Given the description of an element on the screen output the (x, y) to click on. 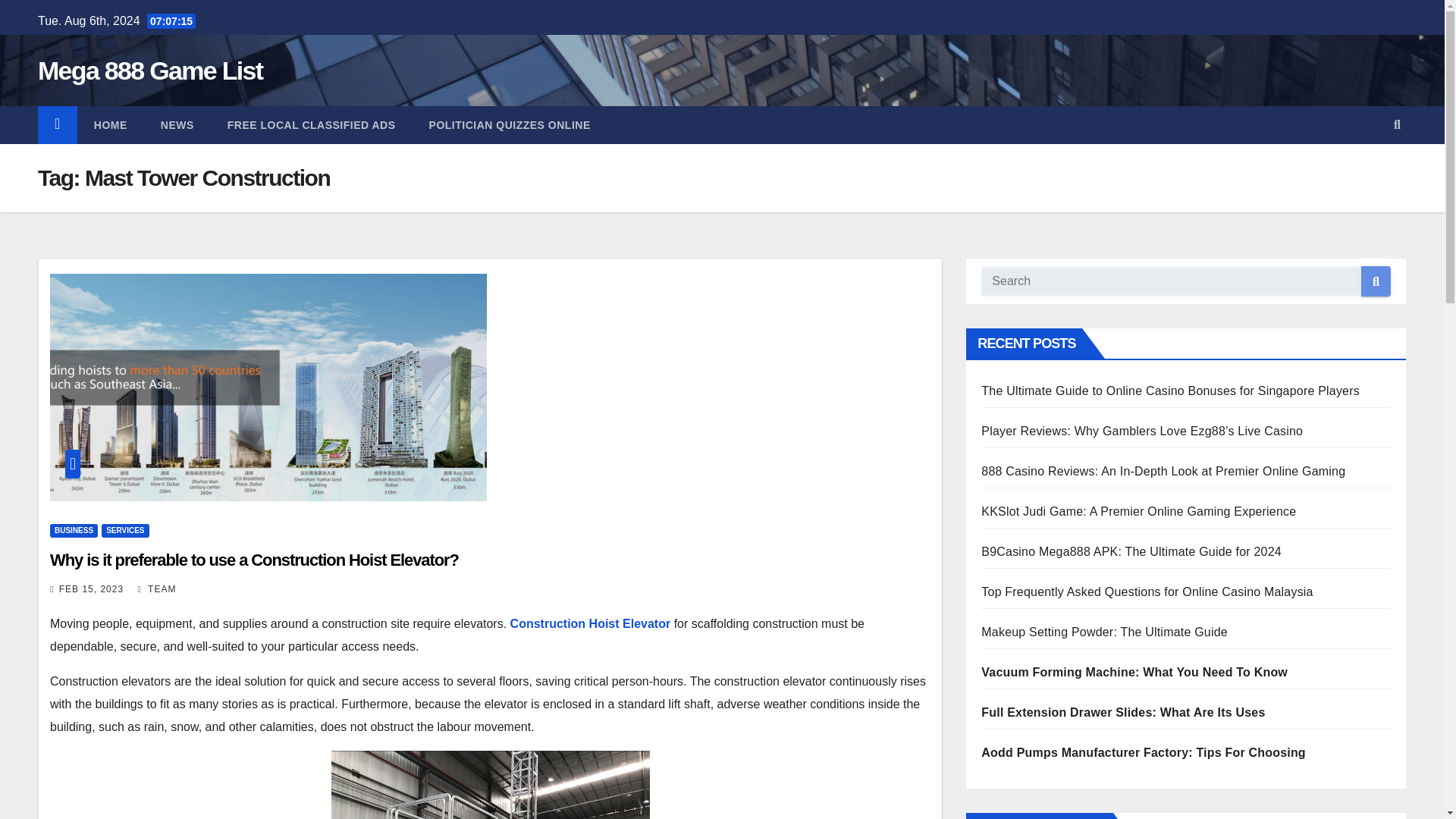
Home (110, 125)
HOME (110, 125)
Aodd Pumps Manufacturer Factory: Tips For Choosing (1143, 752)
Why is it preferable to use a Construction Hoist Elevator? (253, 559)
Vacuum Forming Machine: What You Need To Know (1134, 671)
Free Local Classified Ads (311, 125)
Mega 888 Game List (149, 70)
SERVICES (124, 530)
TEAM (157, 588)
FREE LOCAL CLASSIFIED ADS (311, 125)
FEB 15, 2023 (91, 588)
News (177, 125)
B9Casino Mega888 APK: The Ultimate Guide for 2024 (1131, 551)
Makeup Setting Powder: The Ultimate Guide (1104, 631)
POLITICIAN QUIZZES ONLINE (509, 125)
